Given the description of an element on the screen output the (x, y) to click on. 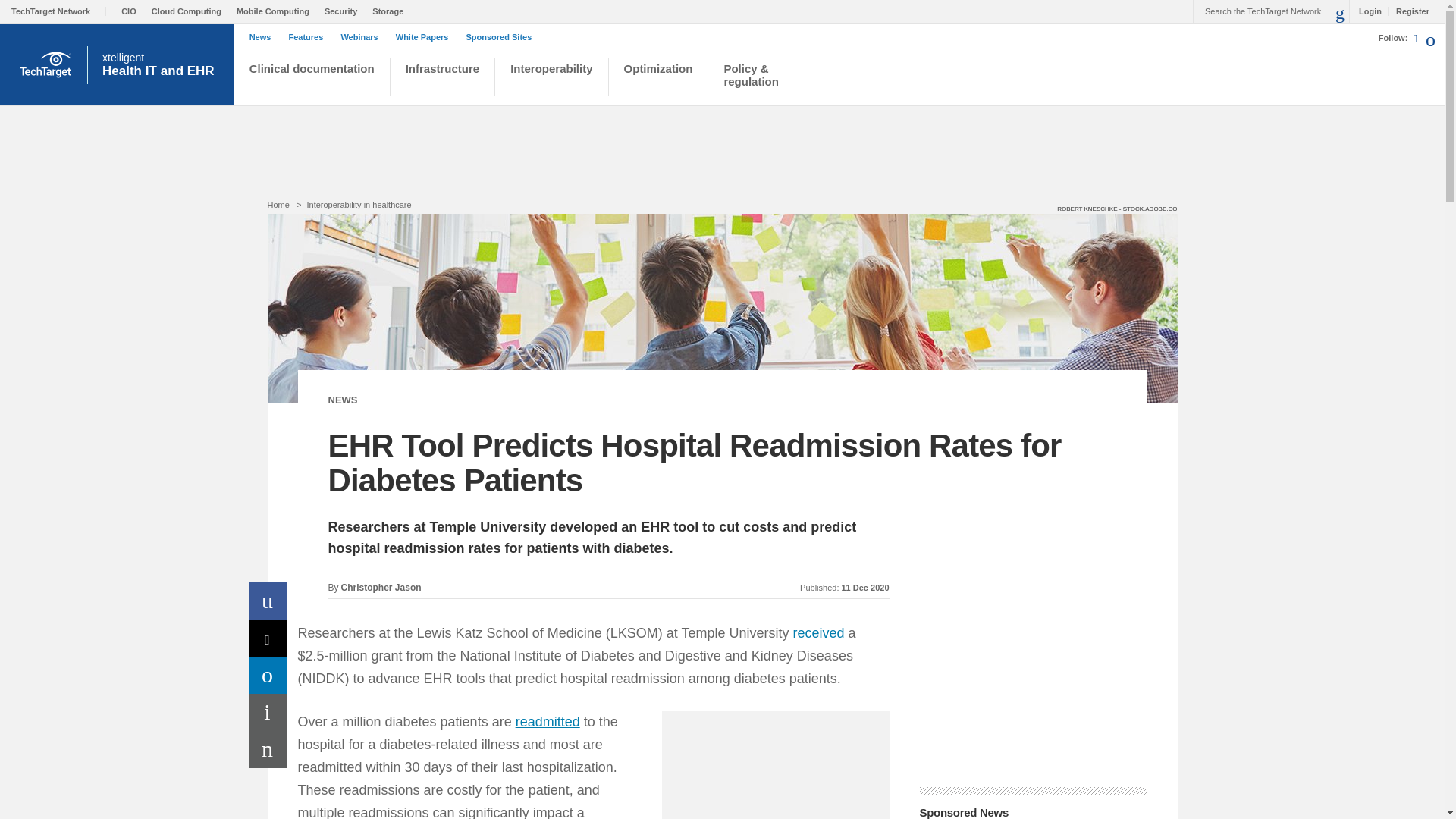
Interoperability in healthcare (357, 204)
News (263, 36)
Clinical documentation (311, 79)
Features (309, 36)
Sponsored Sites (501, 36)
Login (1366, 10)
Storage (391, 10)
readmitted (547, 721)
Webinars (362, 36)
Mobile Computing (276, 10)
Share on Facebook (267, 600)
CIO (132, 10)
Register (1408, 10)
Security (344, 10)
received (818, 632)
